Given the description of an element on the screen output the (x, y) to click on. 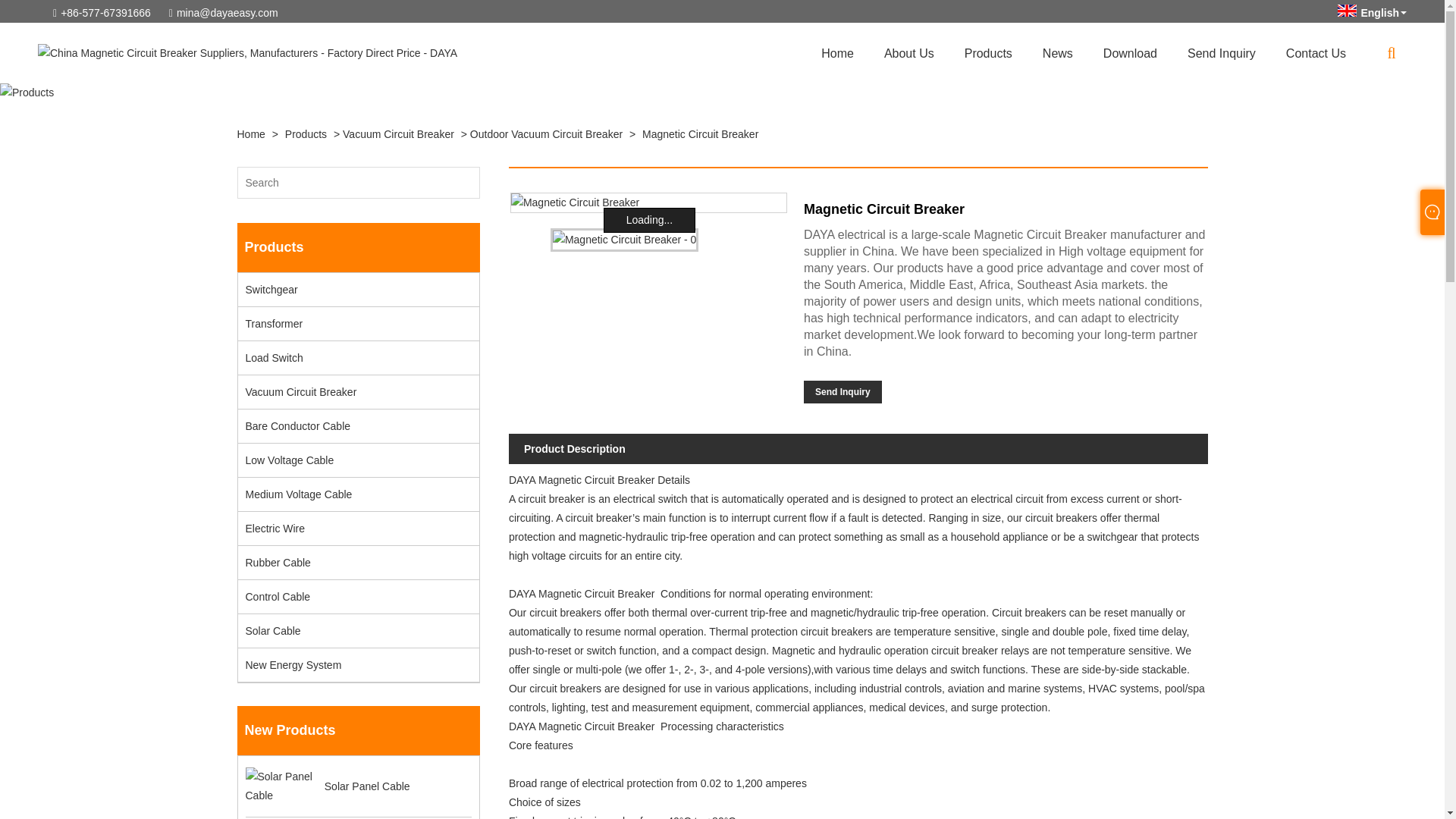
English (1372, 12)
English (1347, 10)
English (1372, 12)
